Given the description of an element on the screen output the (x, y) to click on. 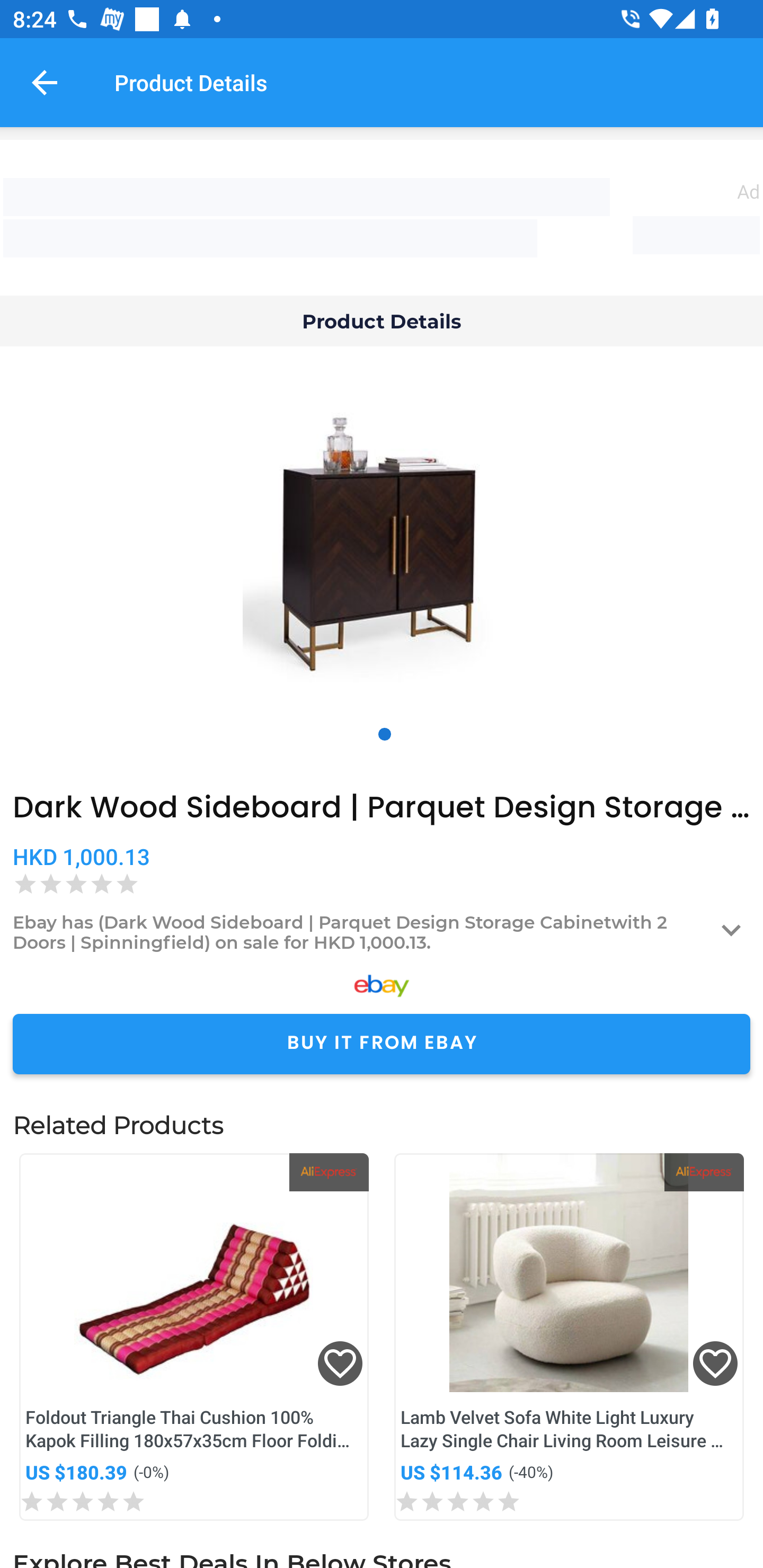
Navigate up (44, 82)
BUY IT FROM EBAY (381, 1044)
